Given the description of an element on the screen output the (x, y) to click on. 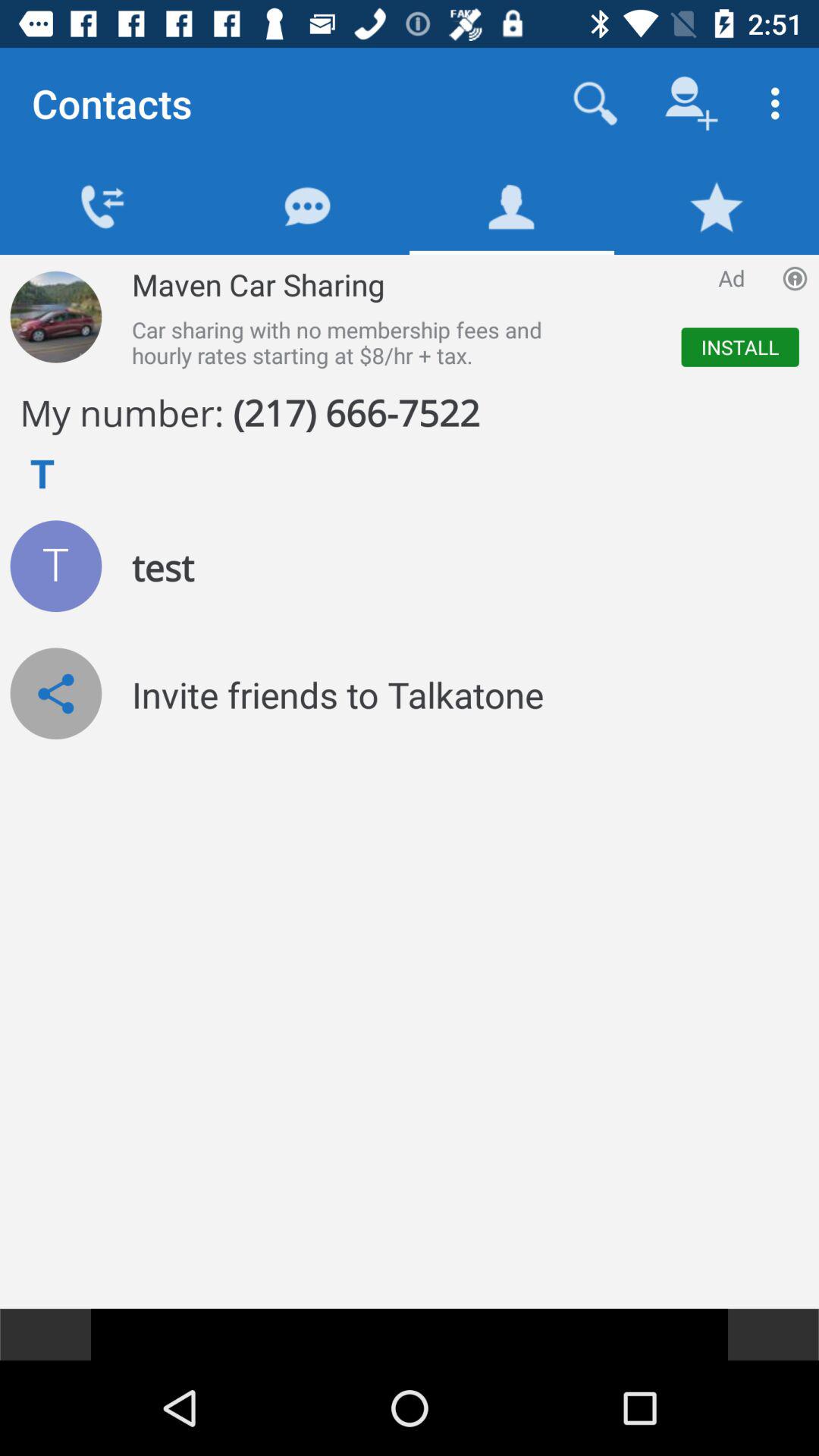
test if the number is in working order (55, 565)
